Given the description of an element on the screen output the (x, y) to click on. 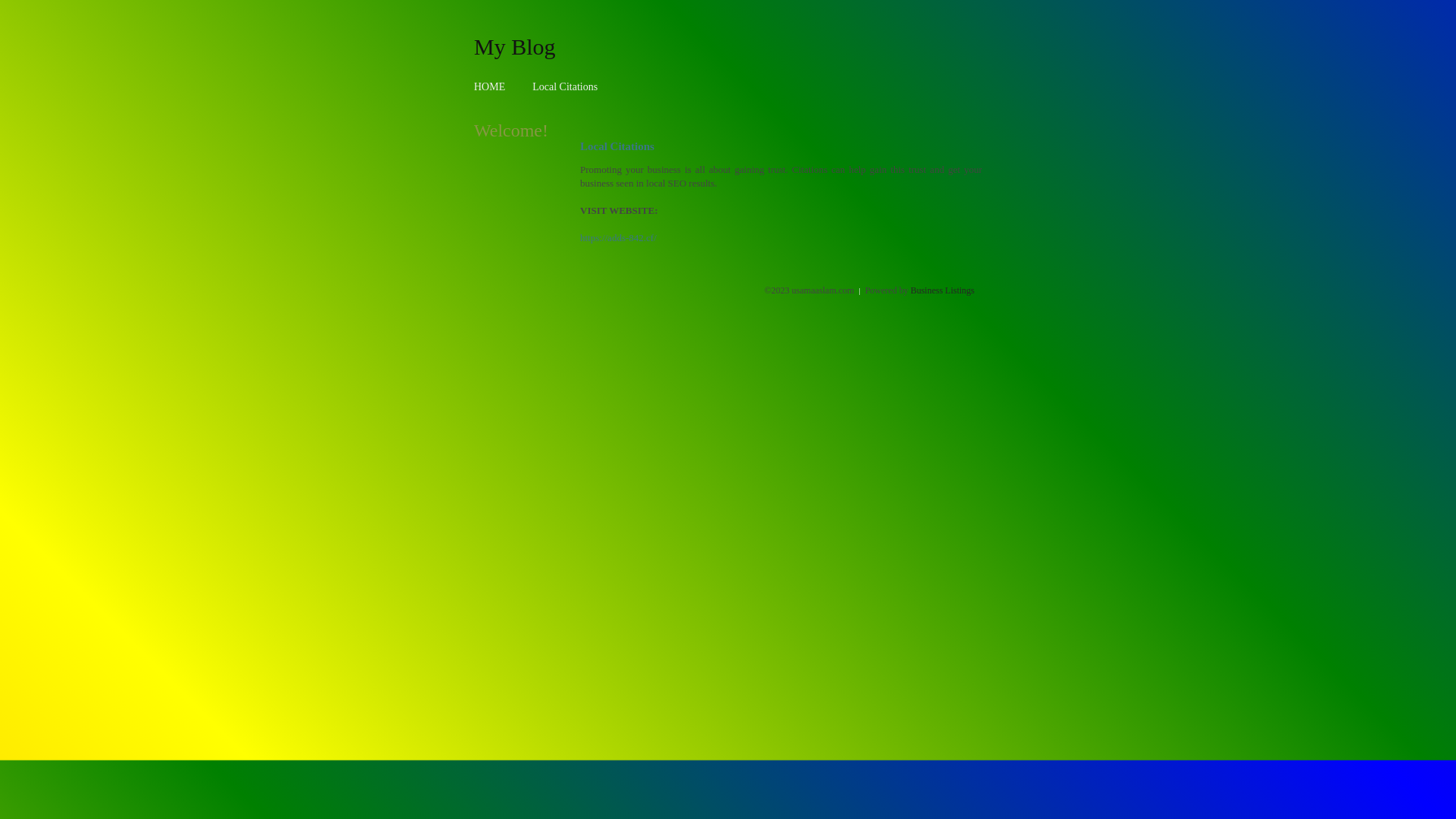
Business Listings Element type: text (942, 290)
My Blog Element type: text (514, 46)
https://adds-842.cf/ Element type: text (618, 237)
Local Citations Element type: text (564, 86)
HOME Element type: text (489, 86)
